Given the description of an element on the screen output the (x, y) to click on. 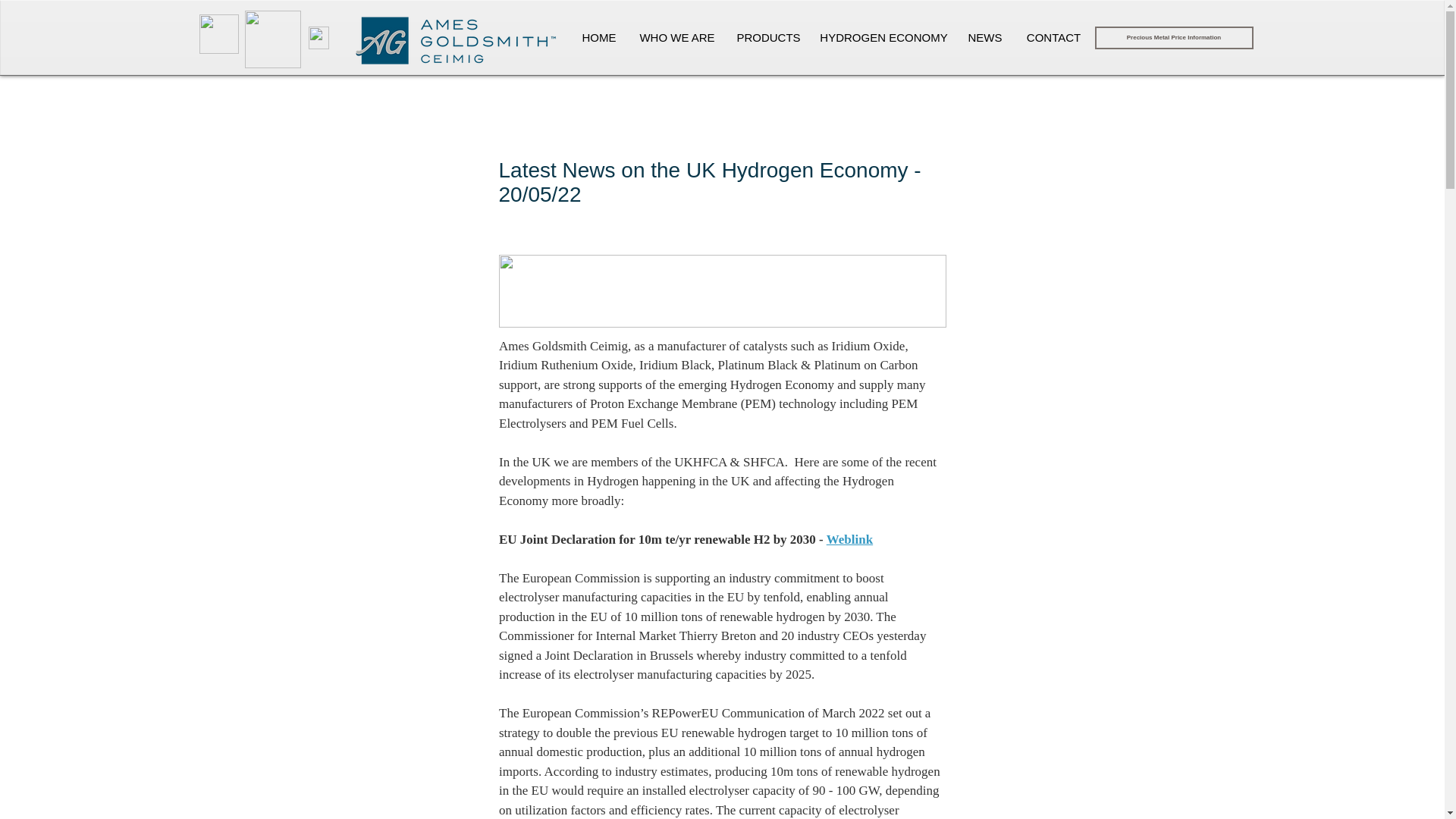
PRODUCTS (767, 37)
WHO WE ARE (676, 37)
Weblink (848, 539)
HYDROGEN ECONOMY (882, 37)
CONTACT (1053, 37)
Precious Metal Price Information (1173, 37)
NEWS (984, 37)
HOME (598, 37)
